Given the description of an element on the screen output the (x, y) to click on. 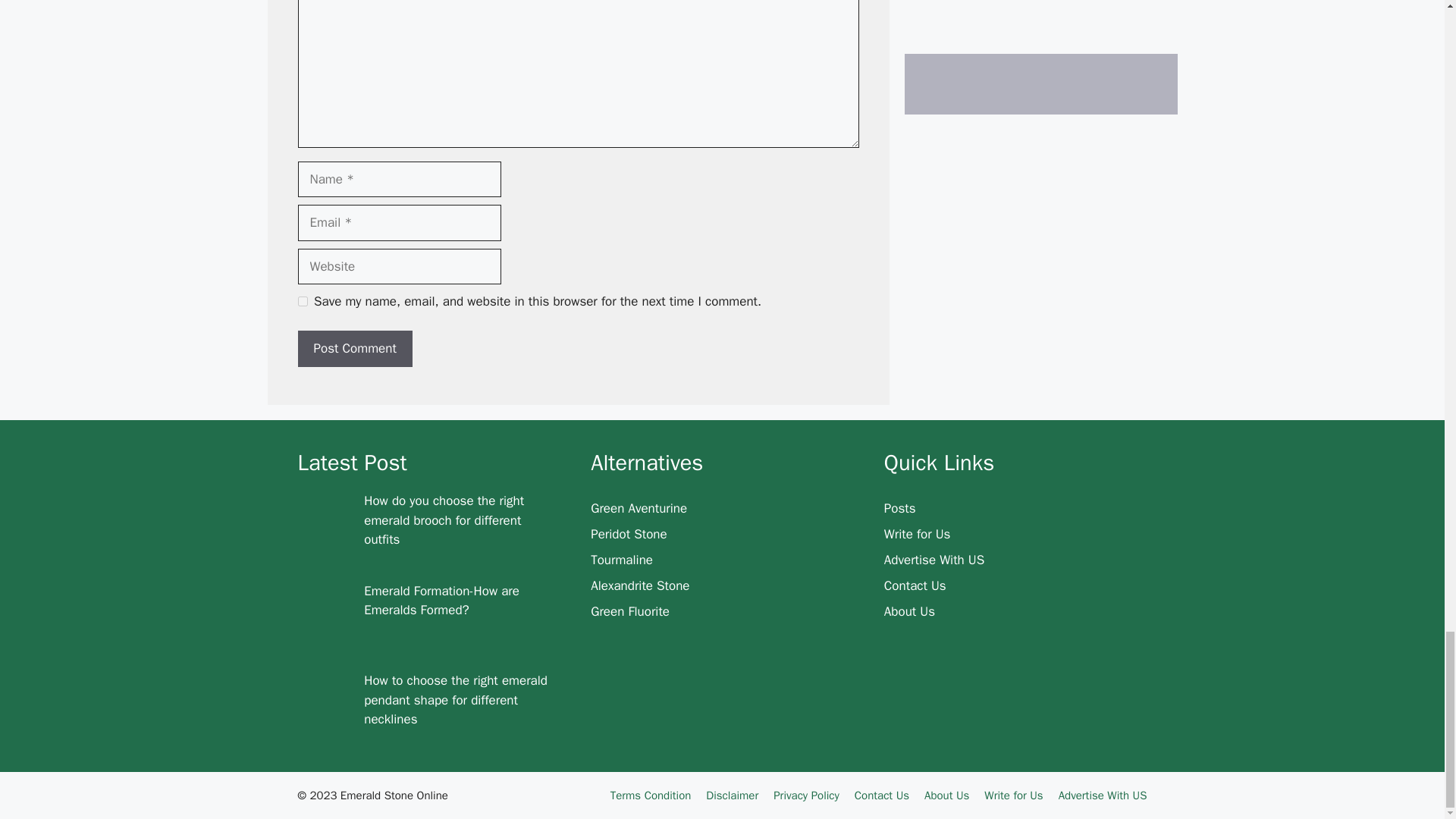
Post Comment (354, 348)
Post Comment (354, 348)
yes (302, 301)
